Given the description of an element on the screen output the (x, y) to click on. 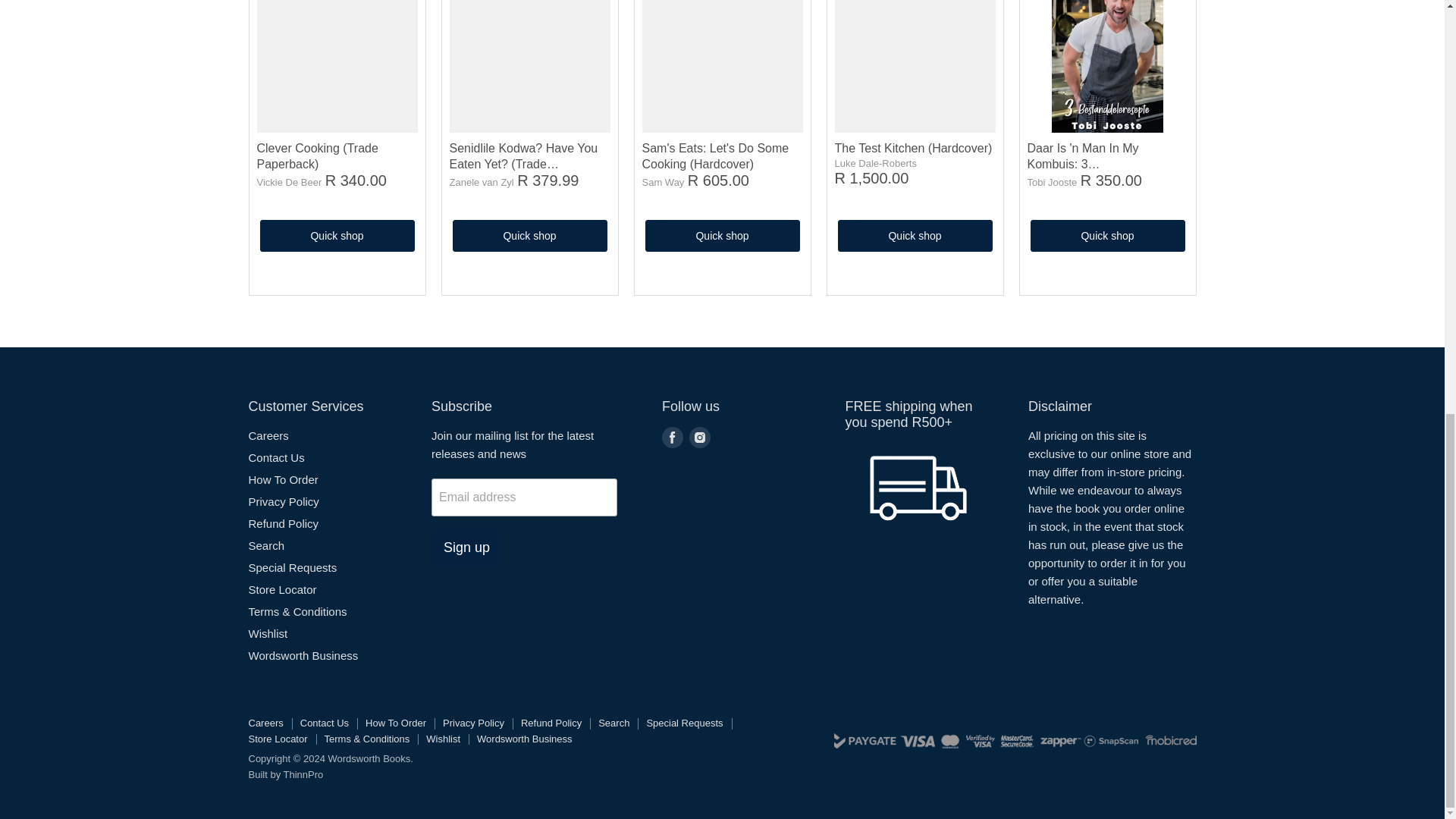
Sam Way (663, 182)
Vickie De Beer (288, 182)
Tobi Jooste (1051, 182)
Facebook (672, 436)
Zanele van Zyl (480, 182)
Luke Dale-Roberts (874, 163)
Instagram (699, 436)
